Given the description of an element on the screen output the (x, y) to click on. 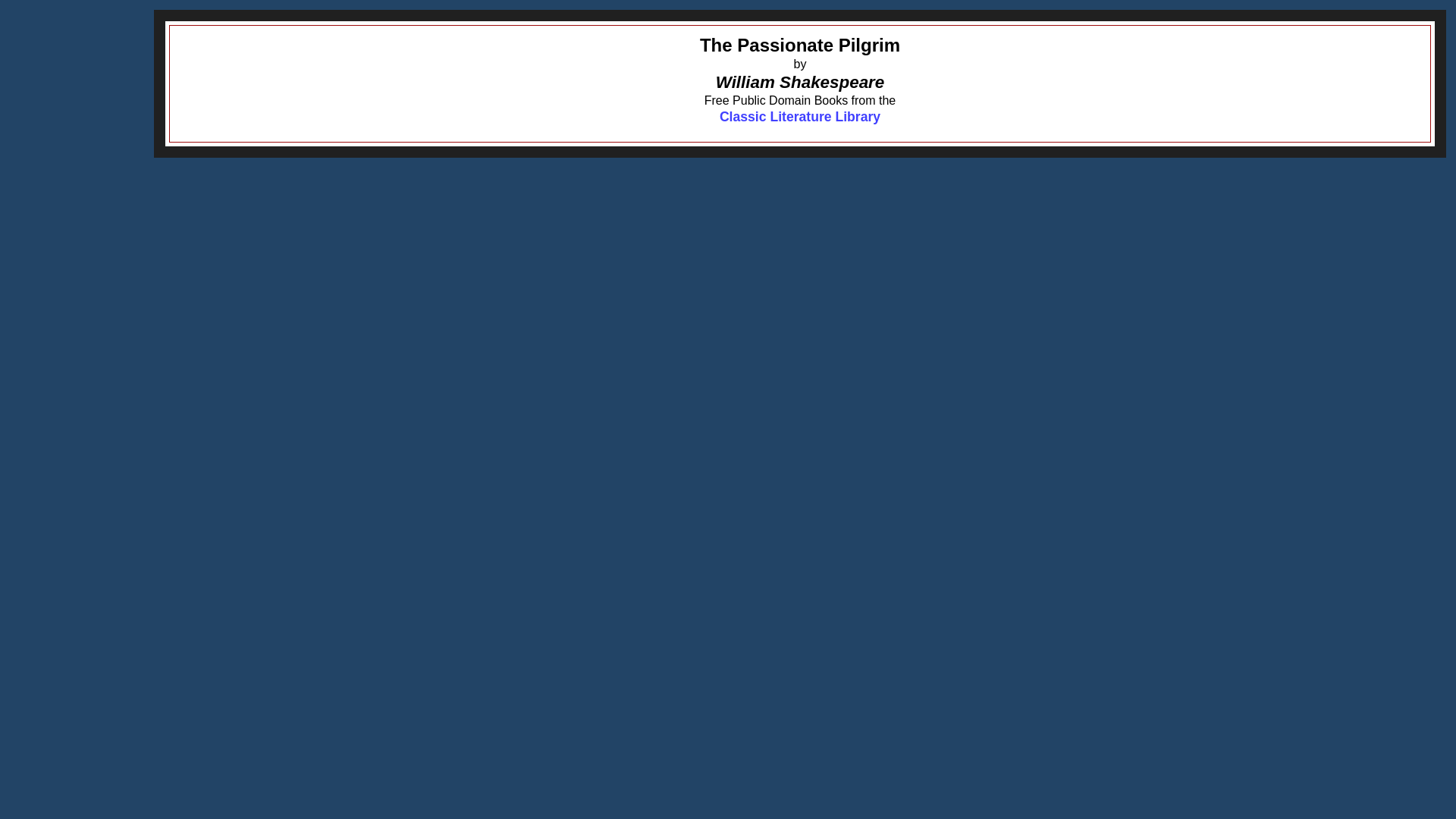
Classic Literature Library (799, 116)
